Given the description of an element on the screen output the (x, y) to click on. 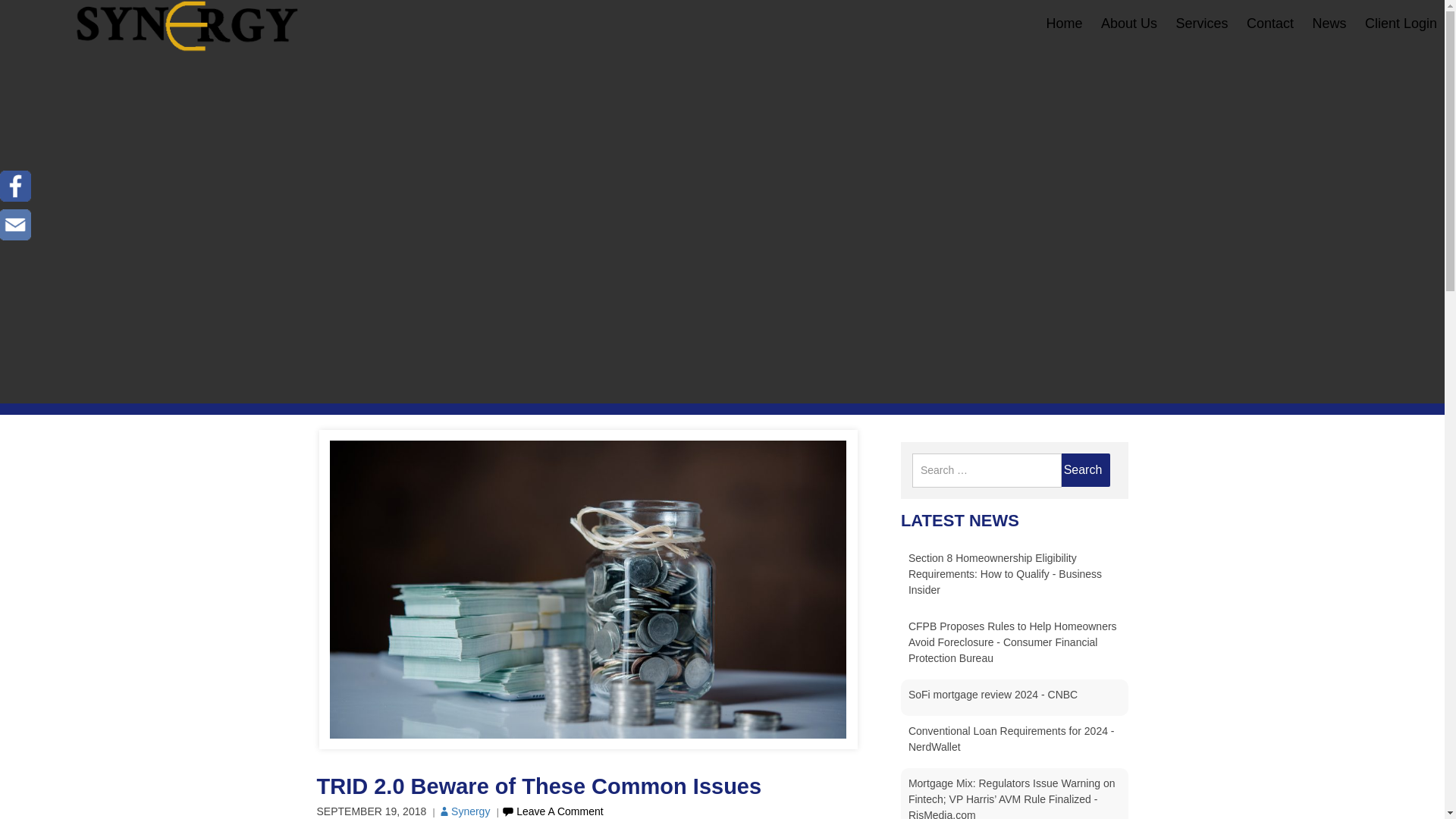
Home (1064, 23)
Leave A Comment (551, 811)
Search (1082, 469)
News (1328, 23)
Search (1082, 469)
Search (1082, 469)
SoFi mortgage review 2024 - CNBC (992, 694)
Services (1200, 23)
Conventional Loan Requirements for 2024 - NerdWallet (1011, 738)
SoFi mortgage review 2024 - CNBC (992, 694)
Synergy (463, 811)
About Us (1128, 23)
